Given the description of an element on the screen output the (x, y) to click on. 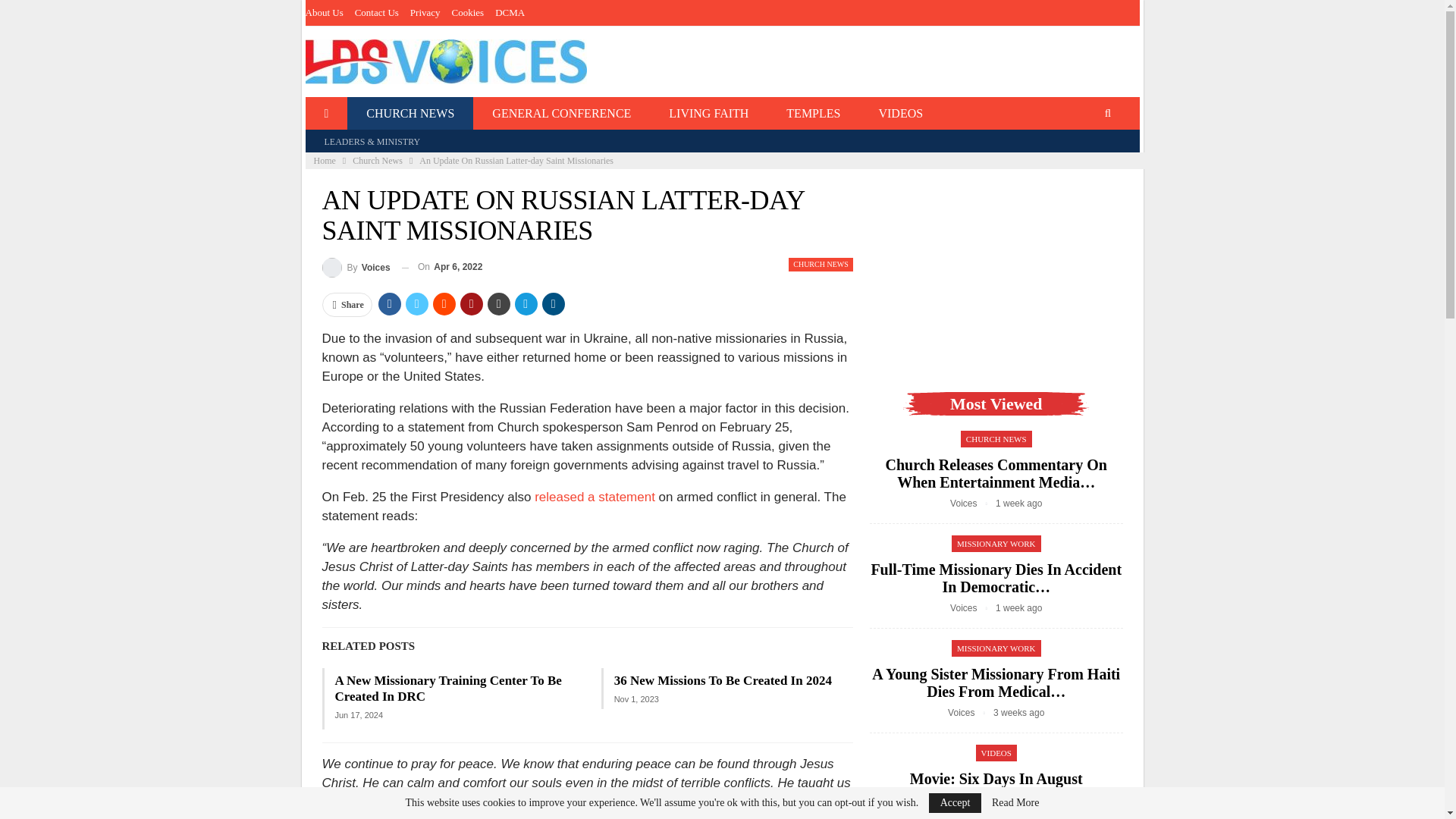
TEMPLES (813, 113)
A New Missionary Training Center To Be Created In DRC (448, 688)
Privacy (425, 12)
Church News (377, 160)
CHURCH NEWS (410, 113)
Browse Author Articles (972, 502)
Cookies (467, 12)
GENERAL CONFERENCE (561, 113)
LIVING FAITH (708, 113)
Contact Us (376, 12)
